Given the description of an element on the screen output the (x, y) to click on. 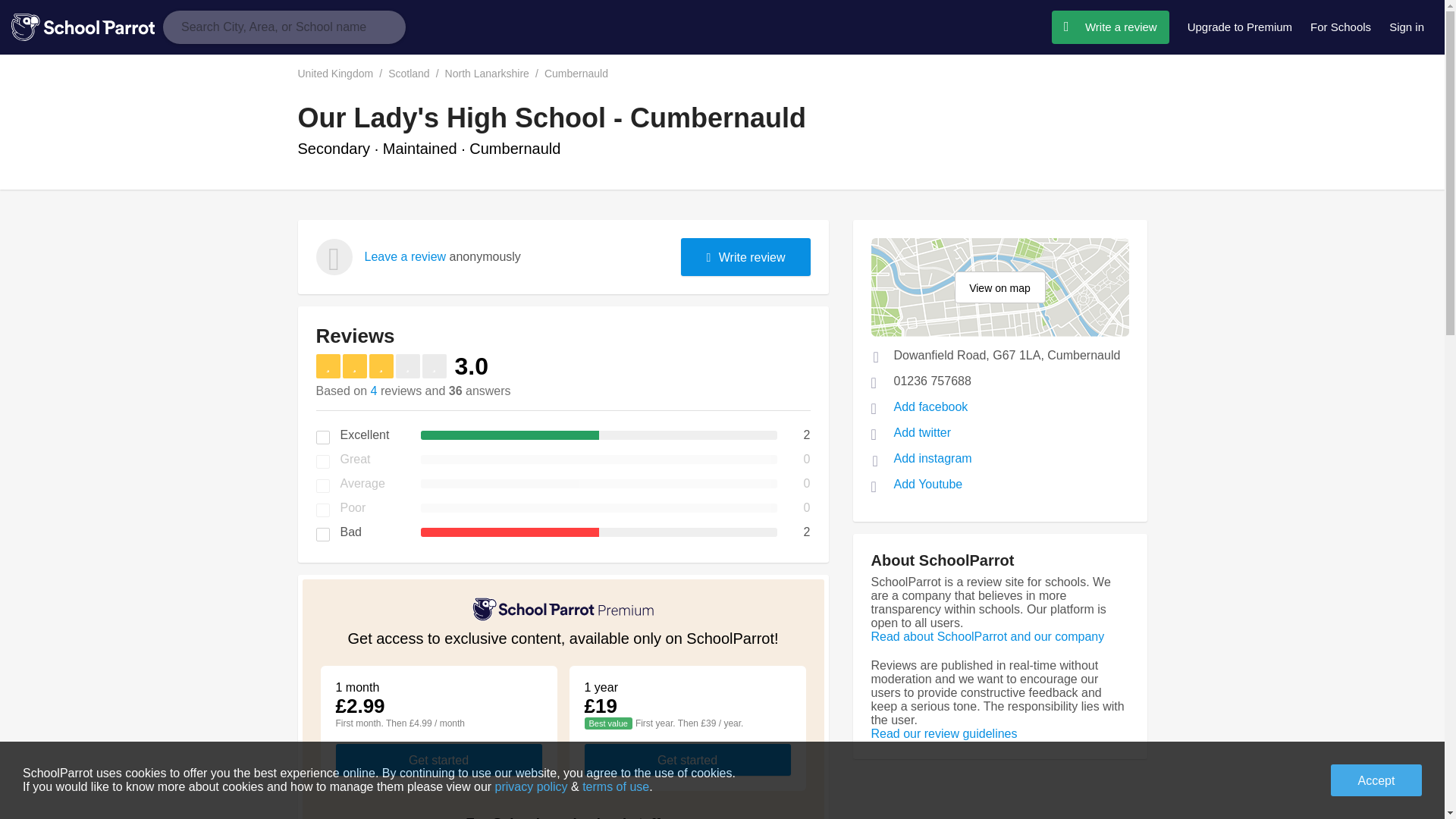
SchoolParrot (87, 26)
Leave a review (404, 256)
Sign in (1406, 27)
Scotland (416, 73)
Cumbernauld (583, 73)
Upgrade to Premium (1240, 27)
Write review (745, 257)
Get started (686, 759)
View on map (999, 287)
North Lanarkshire (494, 73)
Get started (437, 759)
For Schools (1340, 27)
United Kingdom (342, 73)
Add facebook (930, 406)
Add twitter (921, 431)
